Given the description of an element on the screen output the (x, y) to click on. 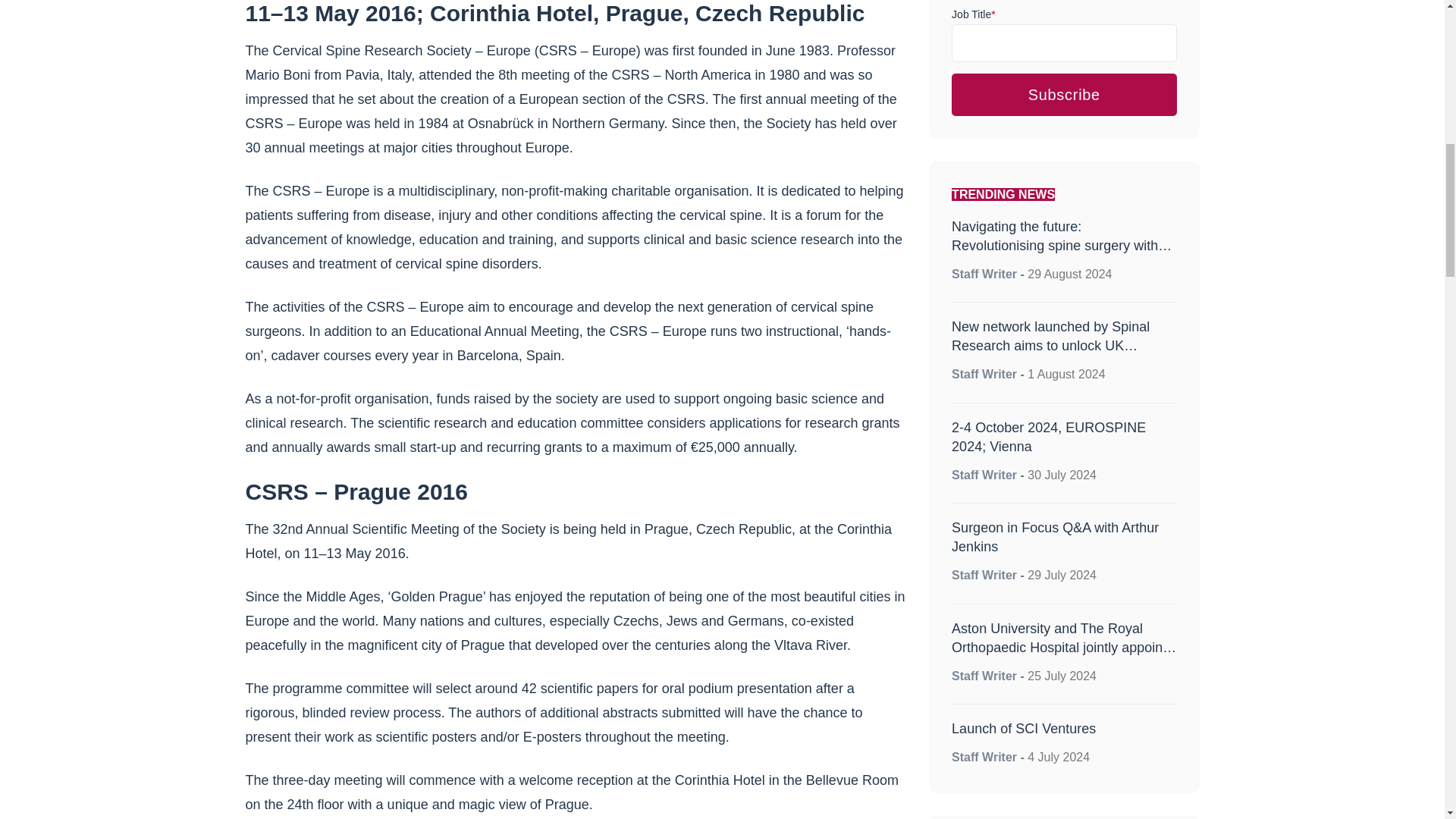
Subscribe (1064, 94)
Posts by Staff Writer (984, 574)
Posts by Staff Writer (984, 373)
Posts by Staff Writer (984, 675)
Posts by Staff Writer (984, 757)
Posts by Staff Writer (984, 474)
Posts by Staff Writer (984, 273)
